Given the description of an element on the screen output the (x, y) to click on. 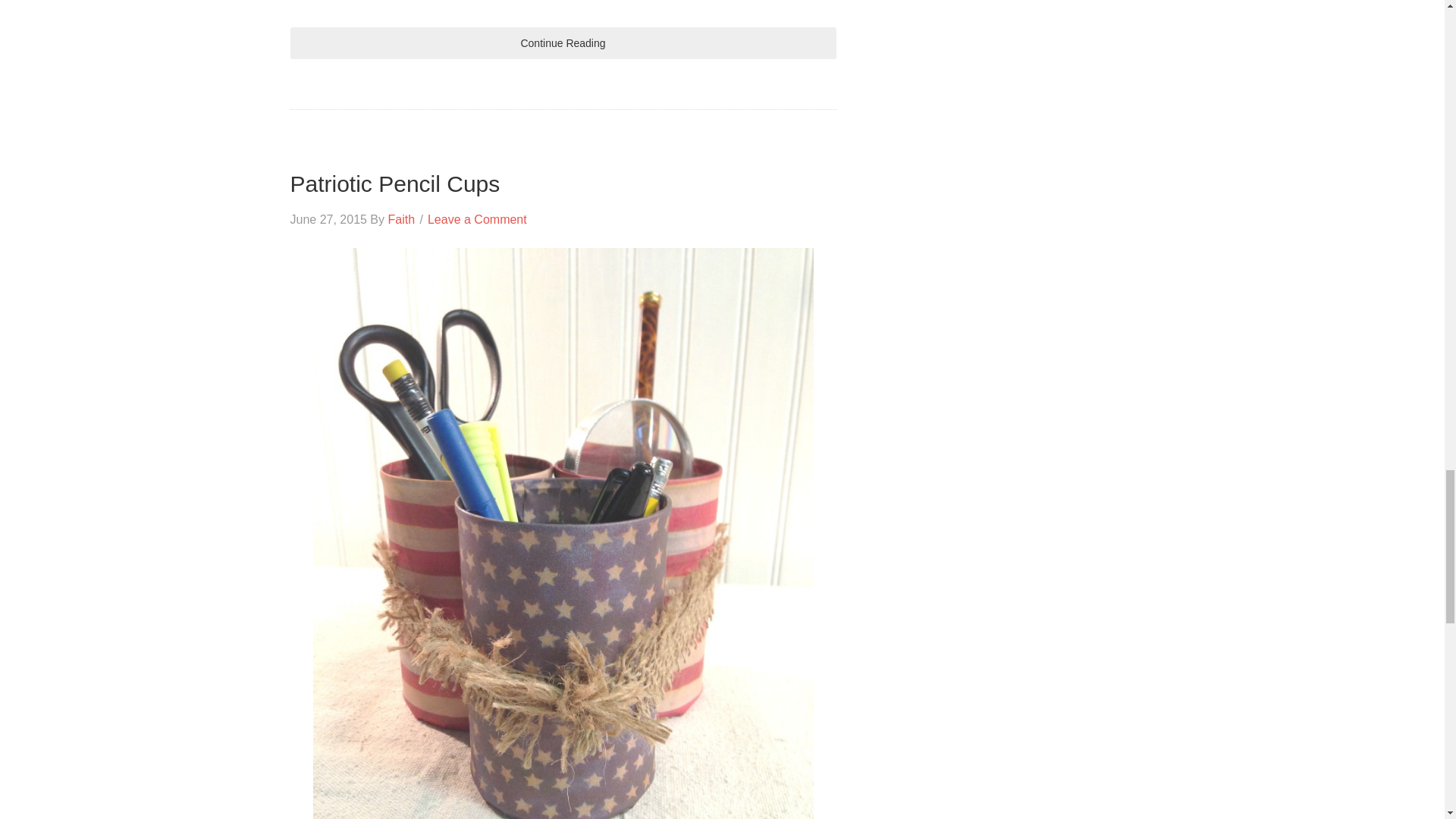
Leave a Comment (477, 219)
Continue Reading (562, 43)
Patriotic Pencil Cups (394, 183)
Faith (400, 219)
